Given the description of an element on the screen output the (x, y) to click on. 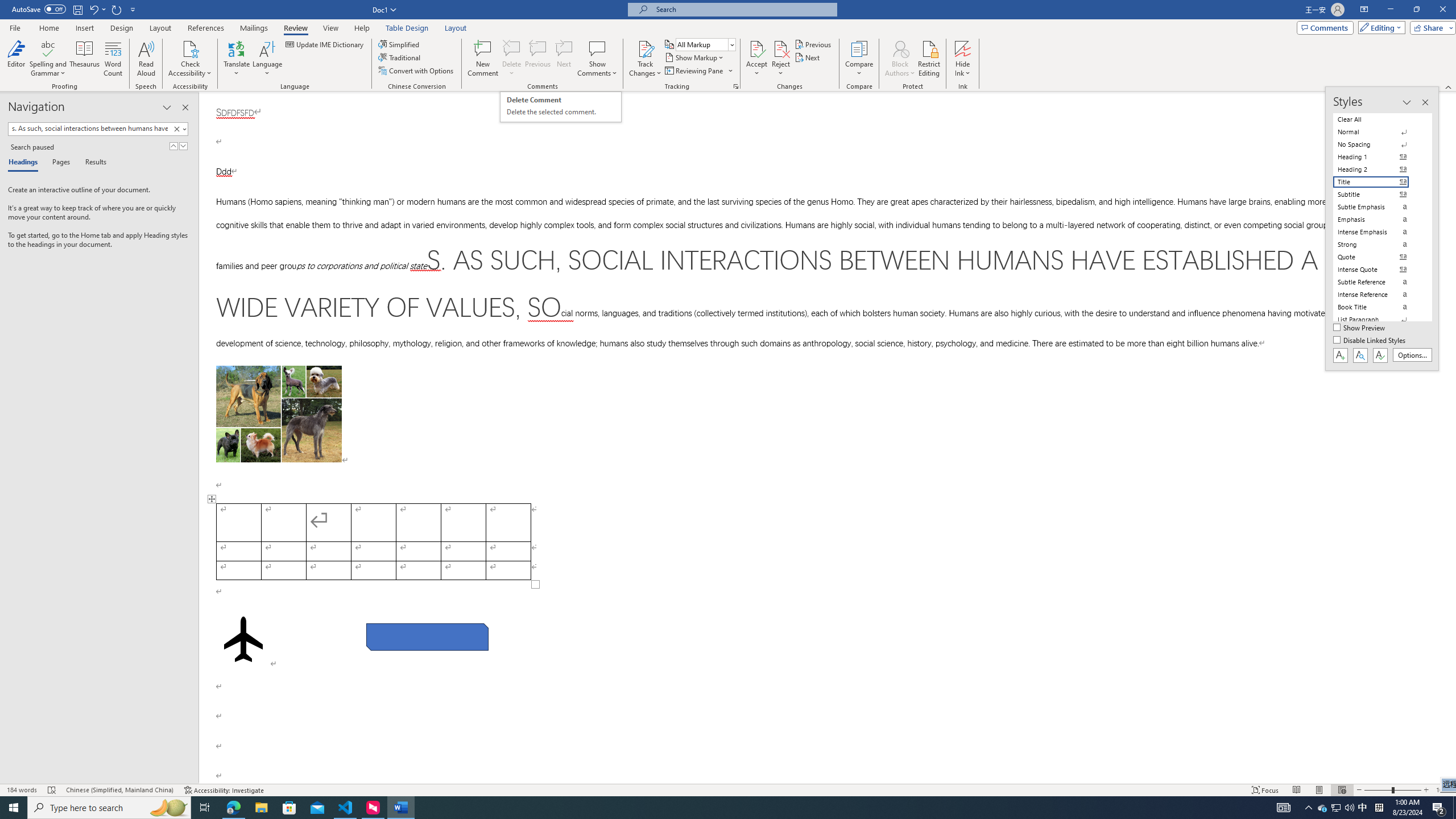
Restrict Editing (929, 58)
Class: NetUIButton (1380, 355)
Clear All (1377, 119)
Traditional (400, 56)
Headings (25, 162)
Rectangle: Diagonal Corners Snipped 2 (427, 636)
Delete (511, 58)
Spelling and Grammar Check Errors (52, 790)
Convert with Options... (417, 69)
New Comment (482, 58)
